Given the description of an element on the screen output the (x, y) to click on. 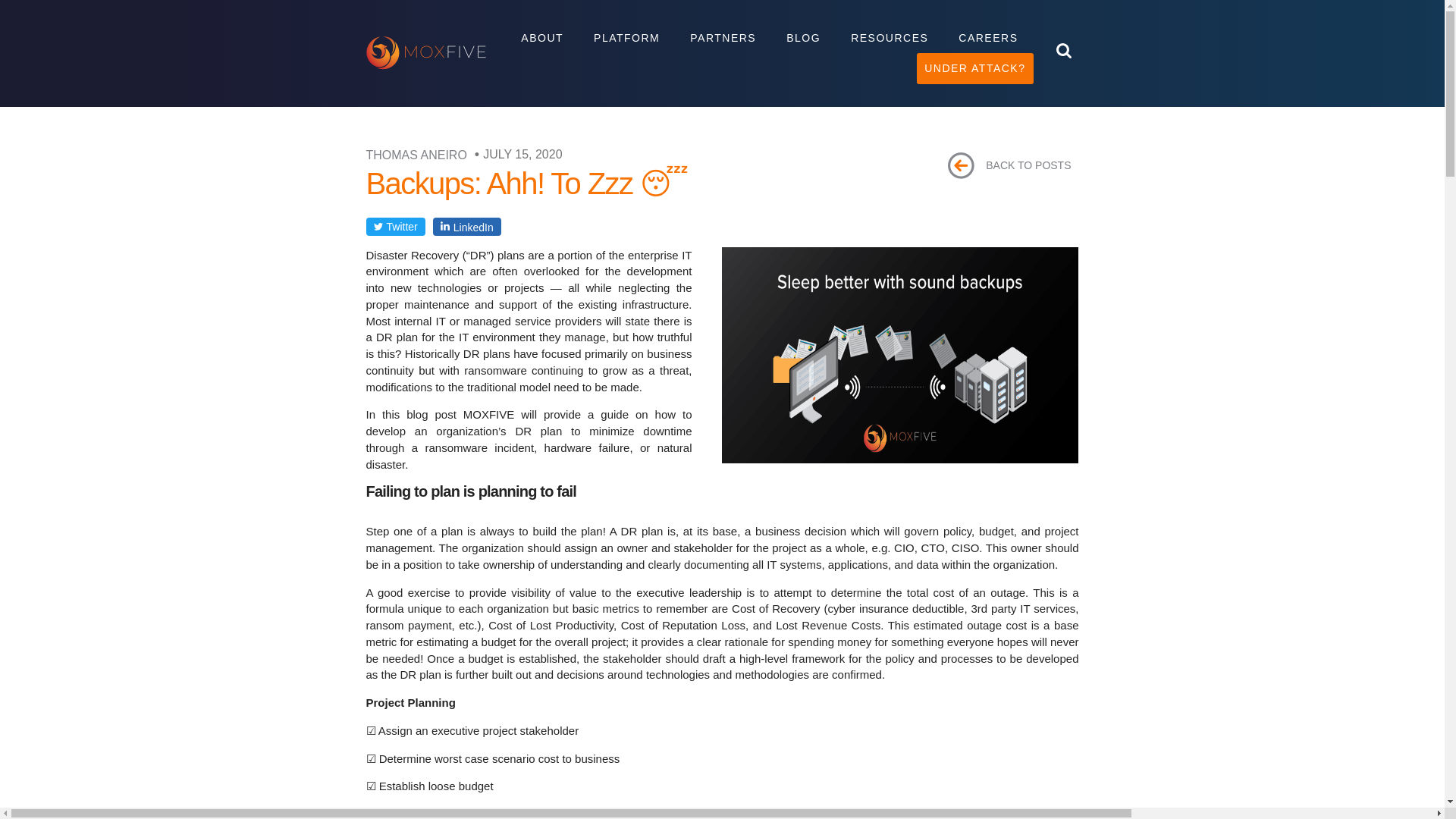
PARTNERS (723, 37)
BACK TO POSTS (1009, 165)
BLOG (803, 37)
Search (1034, 87)
UNDER ATTACK? (974, 68)
LinkedIn (466, 226)
Twitter (395, 226)
CAREERS (987, 37)
RESOURCES (889, 37)
PLATFORM (626, 37)
ABOUT (541, 37)
